Given the description of an element on the screen output the (x, y) to click on. 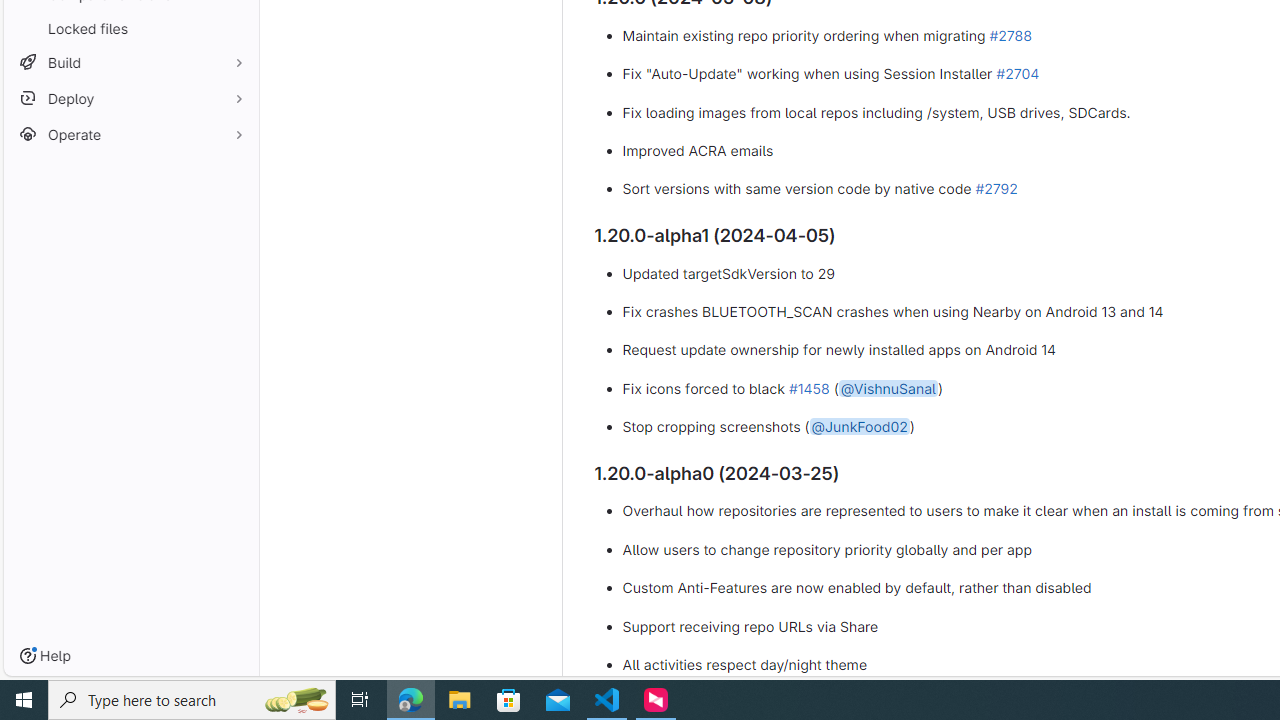
Build (130, 62)
Locked files (130, 28)
Deploy (130, 98)
Search highlights icon opens search home window (295, 699)
#2704 (1017, 73)
Microsoft Edge - 1 running window (411, 699)
Locked files (130, 28)
Deploy (130, 98)
Visual Studio Code - 1 running window (607, 699)
Operate (130, 134)
@JunkFood02 (859, 427)
